Given the description of an element on the screen output the (x, y) to click on. 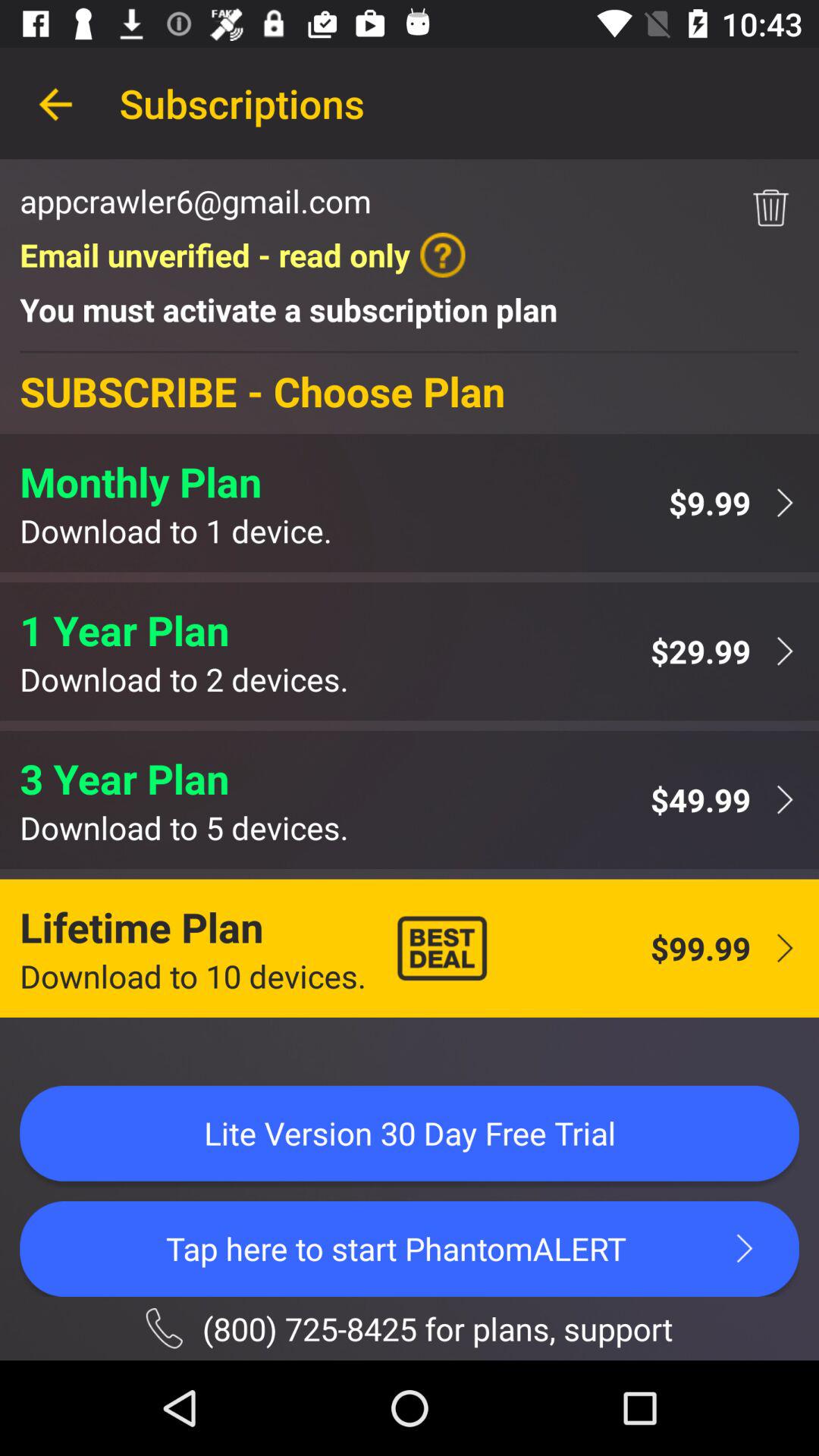
turn on the icon to the right of email unverified read app (770, 207)
